Given the description of an element on the screen output the (x, y) to click on. 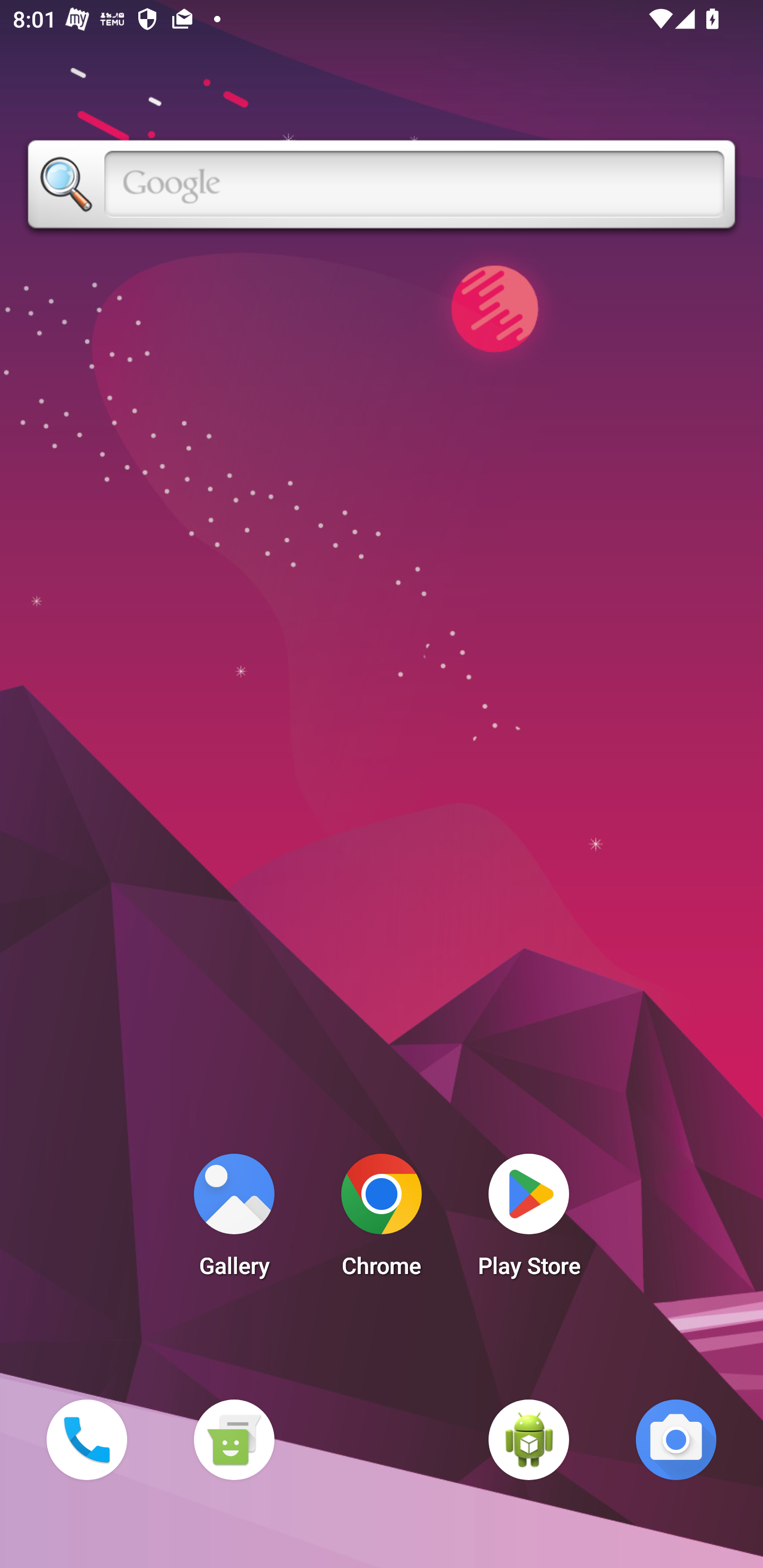
Gallery (233, 1220)
Chrome (381, 1220)
Play Store (528, 1220)
Phone (86, 1439)
Messaging (233, 1439)
WebView Browser Tester (528, 1439)
Camera (676, 1439)
